Given the description of an element on the screen output the (x, y) to click on. 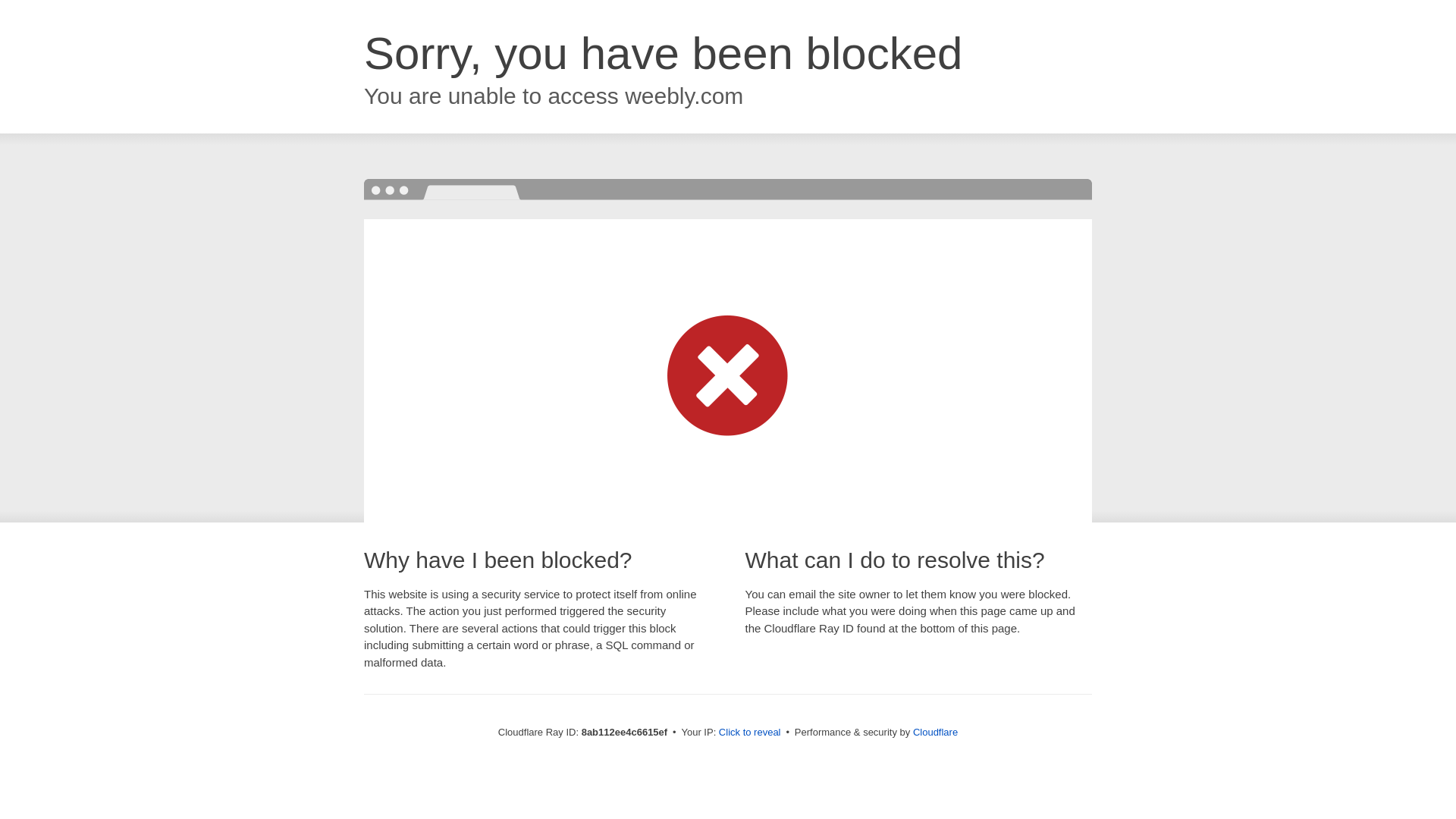
Click to reveal (749, 732)
Cloudflare (935, 731)
